Given the description of an element on the screen output the (x, y) to click on. 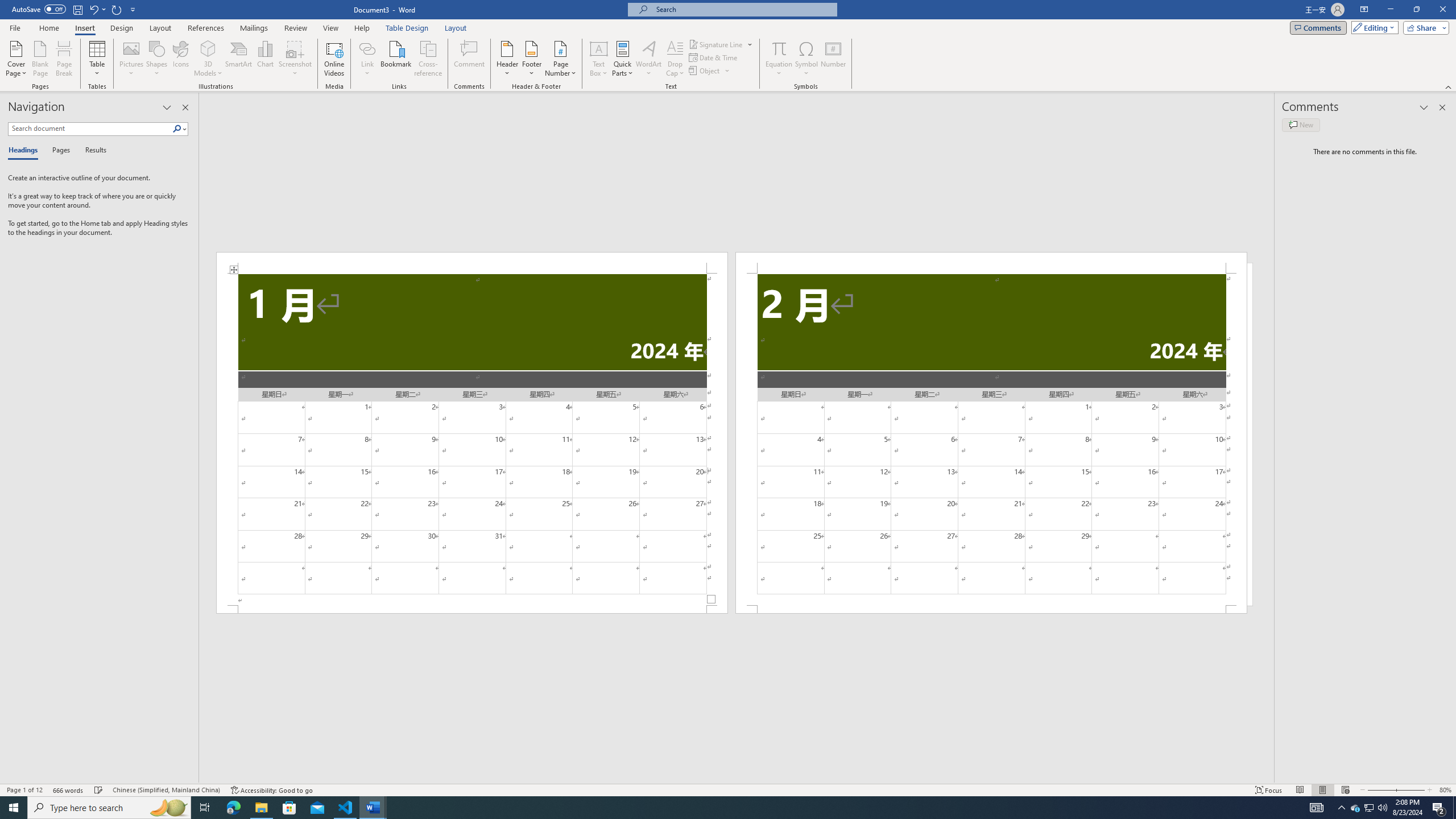
Word Count 666 words (68, 790)
Shapes (156, 58)
Footer (531, 58)
Object... (709, 69)
Screenshot (295, 58)
Bookmark... (396, 58)
